Given the description of an element on the screen output the (x, y) to click on. 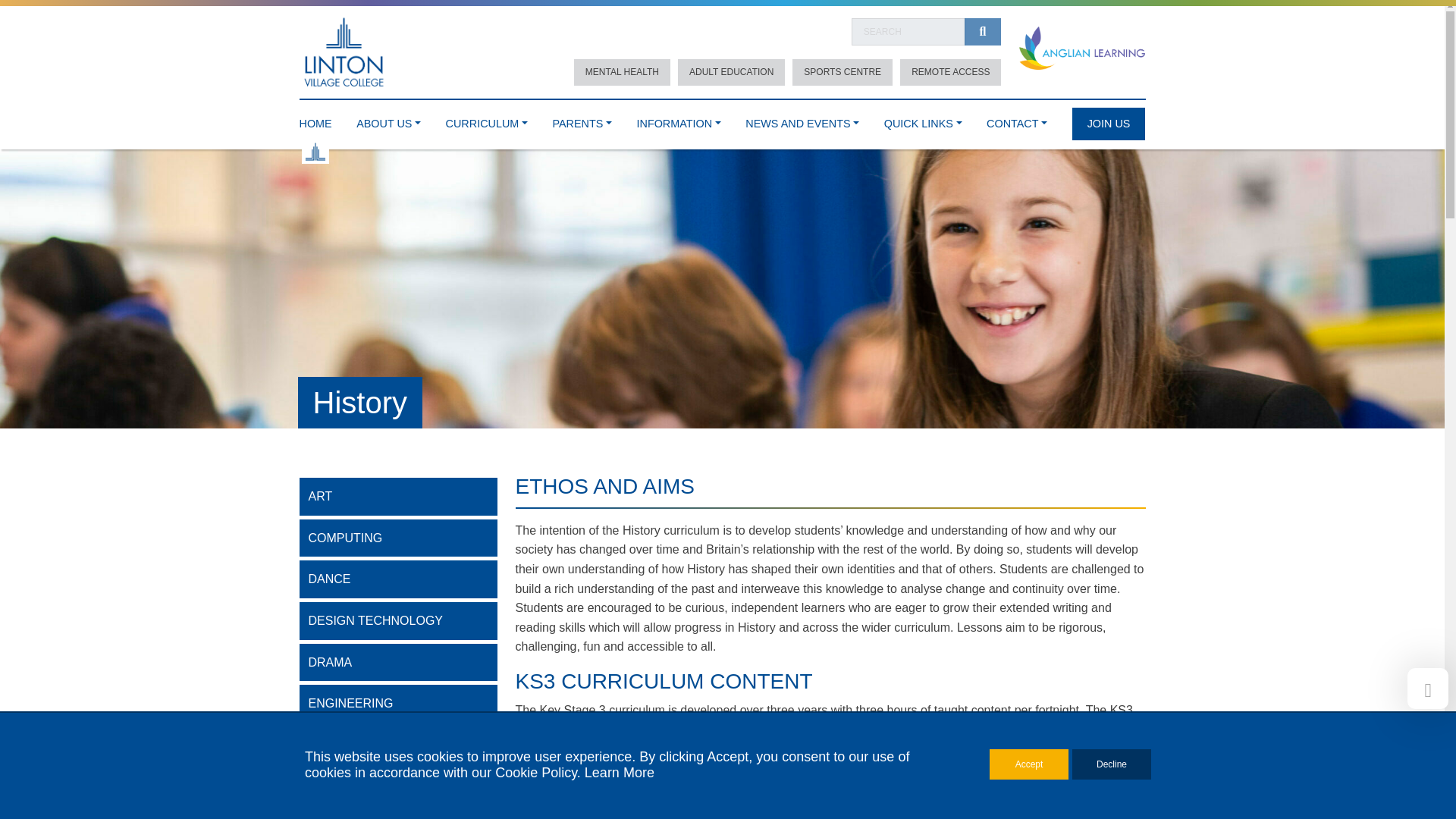
REMOTE ACCESS (950, 71)
MENTAL HEALTH (621, 71)
SPORTS CENTRE (842, 71)
HOME (314, 119)
A JavaScript library for interactive maps (1123, 714)
CURRICULUM (486, 119)
ABOUT US (388, 119)
Zoom in (895, 550)
PARENTS (581, 119)
ADULT EDUCATION (731, 71)
Zoom out (895, 573)
Anglian Learning (1081, 47)
